Given the description of an element on the screen output the (x, y) to click on. 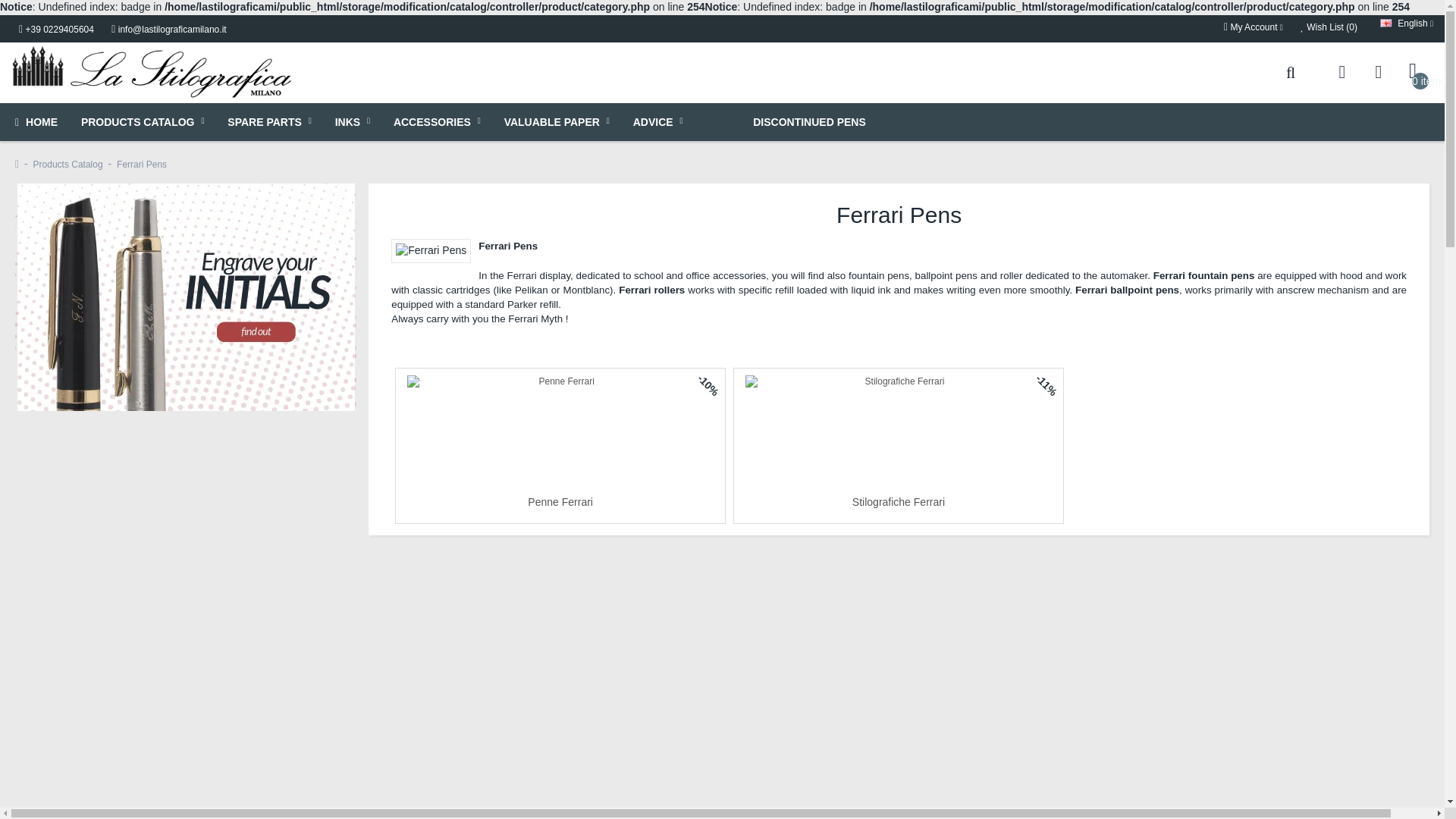
View Cart (1414, 72)
My Account (1253, 27)
Search (1290, 72)
Contact us (1341, 72)
English (1398, 23)
La Stilografica Milano (151, 72)
Information (1377, 72)
HOME (36, 121)
My Account (1253, 27)
English (1385, 22)
